Given the description of an element on the screen output the (x, y) to click on. 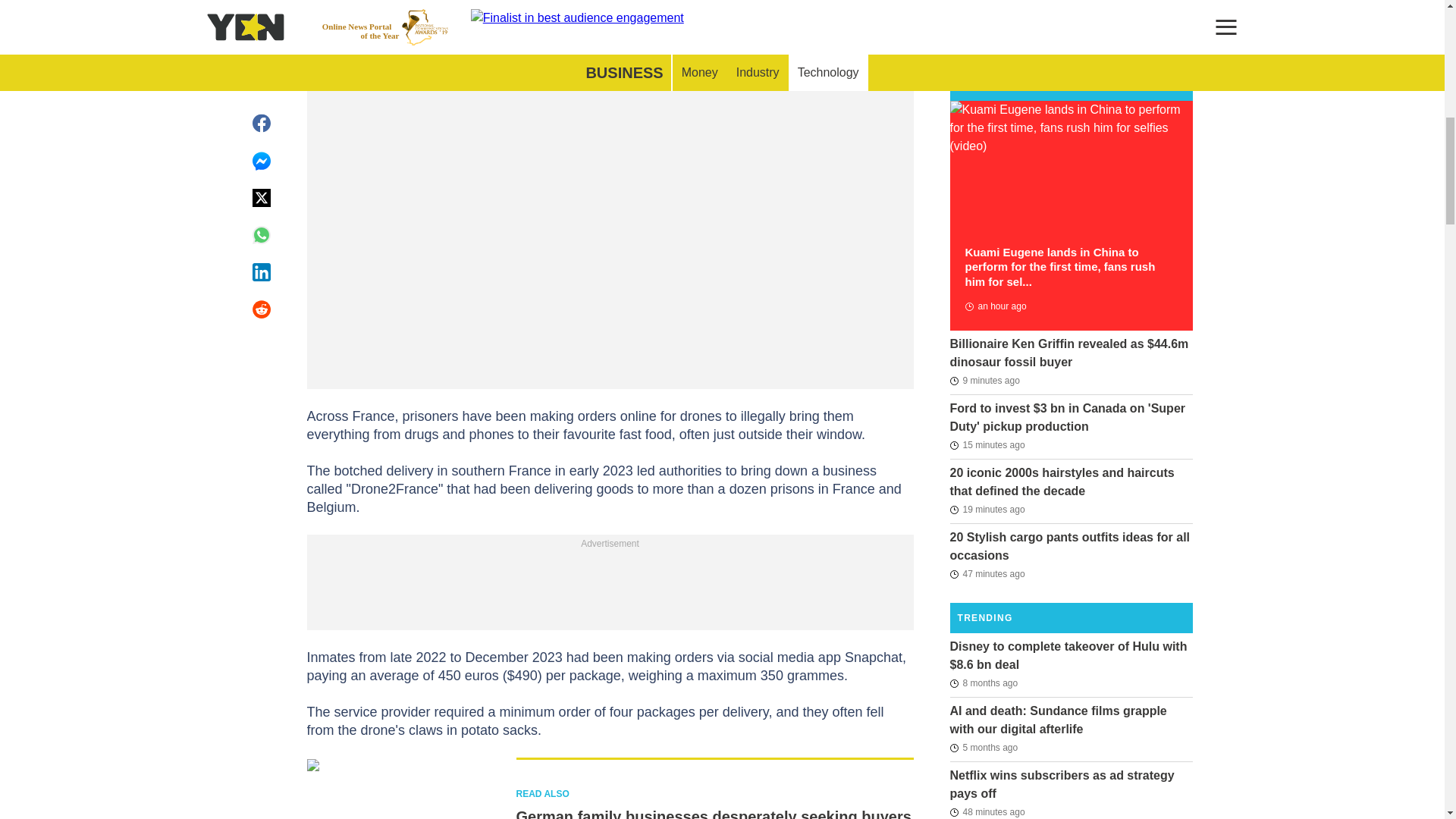
2024-07-18T21:05:29Z (987, 574)
2023-11-01T21:40:09Z (983, 683)
2024-07-18T20:35:38Z (994, 306)
2024-07-18T21:04:03Z (987, 811)
2024-01-21T01:53:05Z (983, 747)
2024-07-18T21:33:03Z (987, 509)
2024-07-18T21:43:03Z (984, 380)
2024-07-18T21:37:02Z (987, 444)
